Given the description of an element on the screen output the (x, y) to click on. 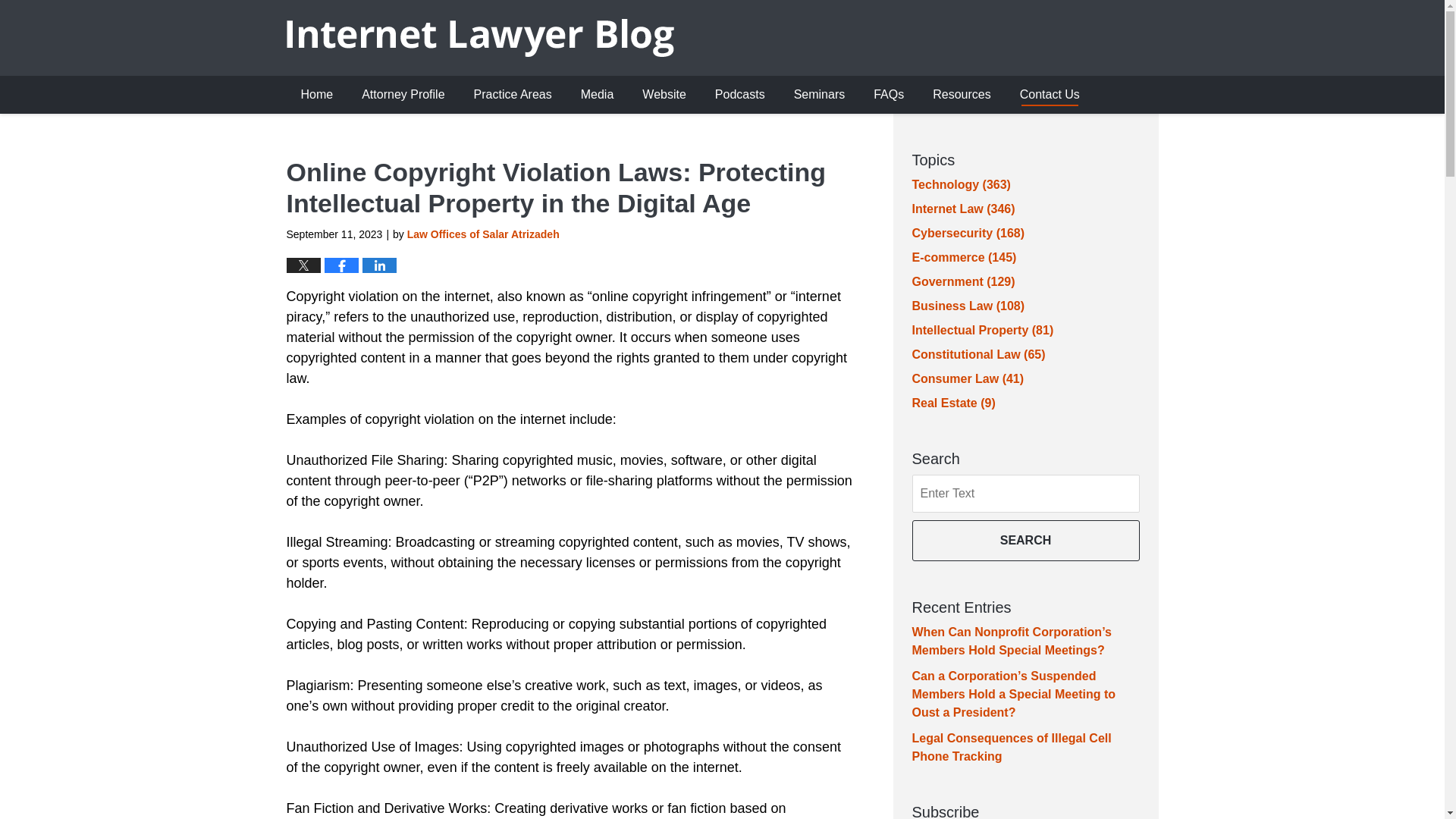
Contact Us (1050, 94)
Media (597, 94)
Law Offices of Salar Atrizadeh (483, 234)
Website (663, 94)
Attorney Profile (402, 94)
Resources (961, 94)
Podcasts (739, 94)
Seminars (819, 94)
FAQs (888, 94)
Practice Areas (513, 94)
Internet Lawyer Blog (480, 37)
Home (316, 94)
